Given the description of an element on the screen output the (x, y) to click on. 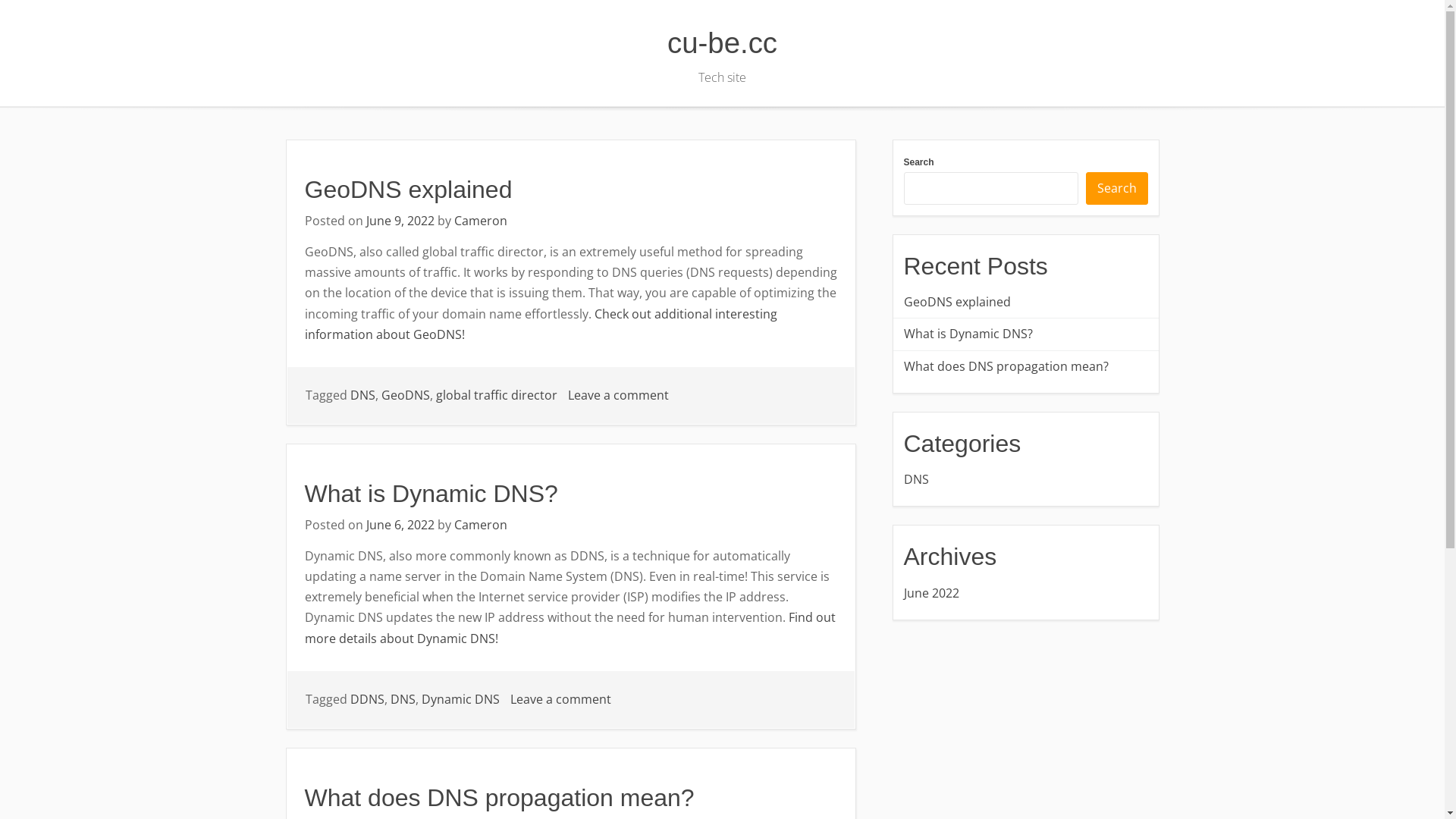
Leave a comment
on What is Dynamic DNS? Element type: text (559, 698)
GeoDNS explained Element type: text (408, 189)
DNS Element type: text (401, 698)
June 9, 2022 Element type: text (399, 220)
Dynamic DNS Element type: text (460, 698)
GeoDNS explained Element type: text (1025, 301)
Cameron Element type: text (479, 220)
Search Element type: text (1116, 188)
What is Dynamic DNS? Element type: text (1025, 333)
June 2022 Element type: text (1025, 593)
GeoDNS Element type: text (404, 394)
Find out more details about Dynamic DNS! Element type: text (569, 627)
June 6, 2022 Element type: text (399, 524)
What does DNS propagation mean? Element type: text (1025, 366)
Cameron Element type: text (479, 524)
DNS Element type: text (1025, 479)
cu-be.cc Element type: text (721, 42)
Leave a comment
on GeoDNS explained Element type: text (617, 394)
DDNS Element type: text (367, 698)
global traffic director Element type: text (495, 394)
Check out additional interesting information about GeoDNS! Element type: text (540, 323)
What does DNS propagation mean? Element type: text (499, 797)
DNS Element type: text (362, 394)
What is Dynamic DNS? Element type: text (431, 493)
